Given the description of an element on the screen output the (x, y) to click on. 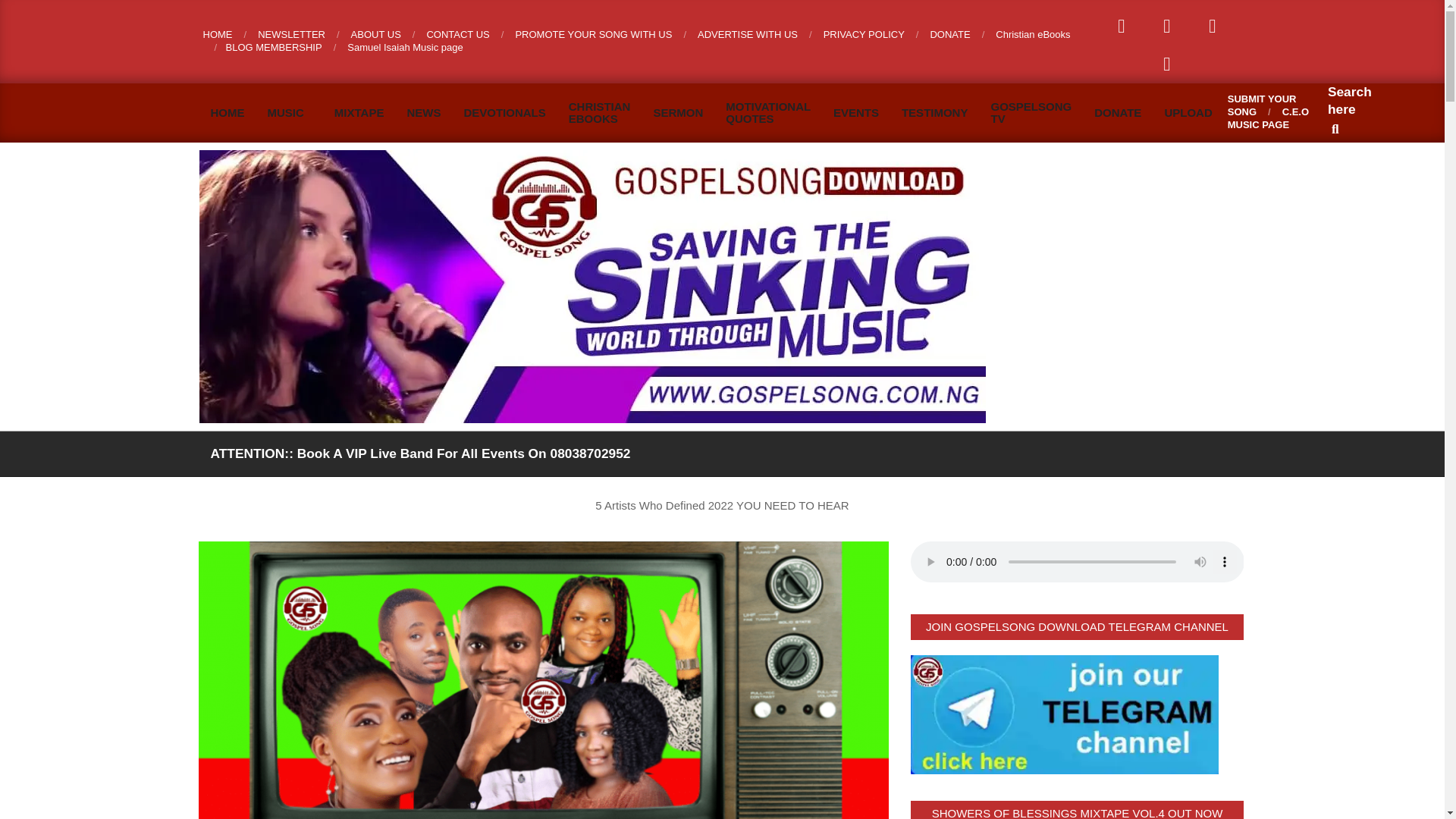
CONTACT US (457, 34)
EVENTS (855, 112)
DONATE (1118, 112)
Samuel Isaiah Music page (405, 47)
HOME (227, 112)
DEVOTIONALS (503, 112)
CHRISTIAN EBOOKS (599, 112)
MUSIC (289, 112)
HOME (217, 34)
TESTIMONY (934, 112)
ABOUT US (375, 34)
BLOG MEMBERSHIP (273, 47)
UPLOAD (1188, 112)
SUBMIT YOUR SONG (1262, 105)
GOSPELSONG TV (1030, 112)
